Given the description of an element on the screen output the (x, y) to click on. 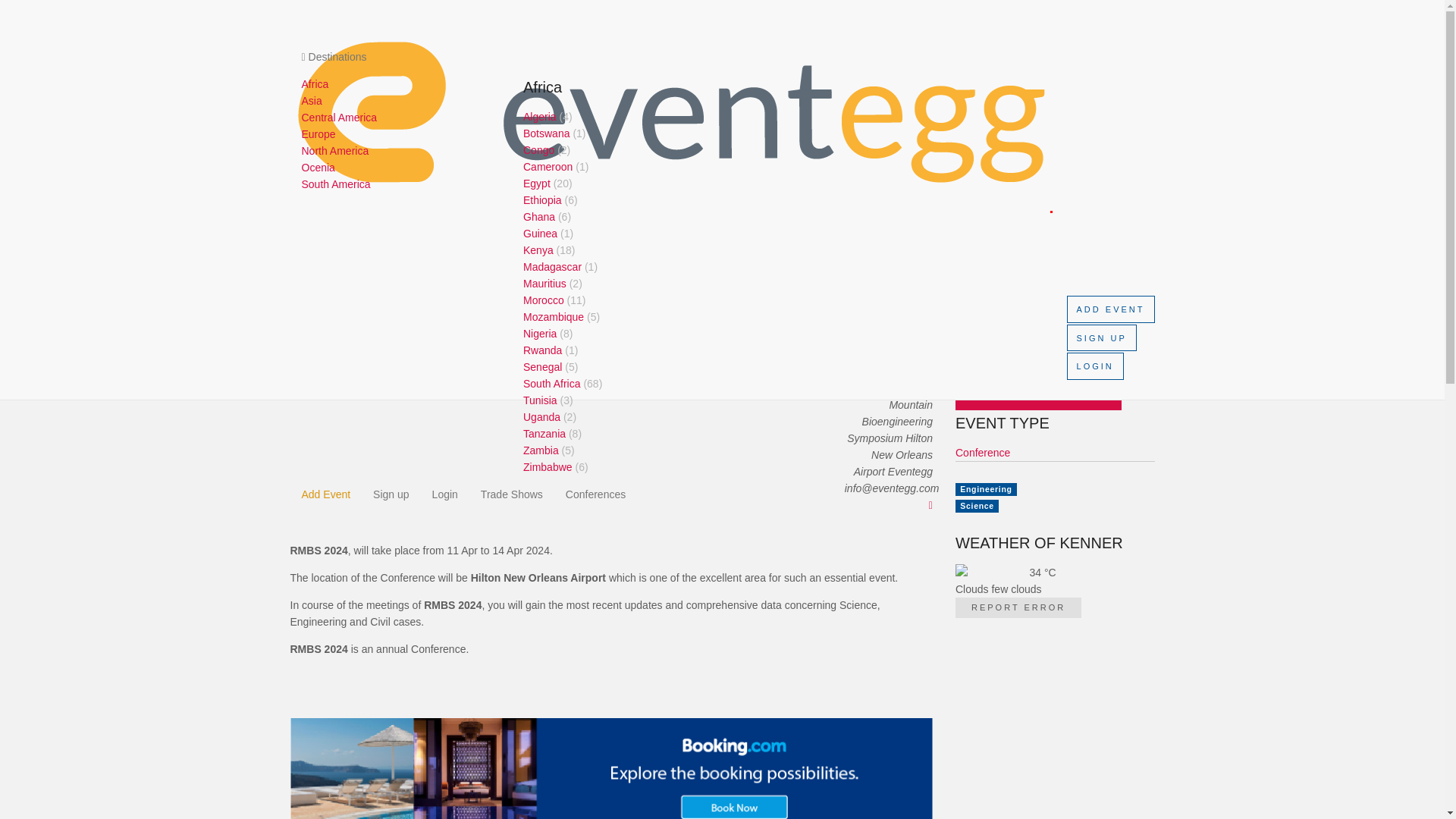
Africa (315, 83)
Ocenia (317, 167)
Central America (339, 117)
Destinations (732, 56)
North America (335, 150)
Asia (311, 101)
Hilton New Orleans Airport (1054, 281)
10-04-2024 (1054, 307)
14-04-2024 (1054, 351)
Europe (318, 133)
